Given the description of an element on the screen output the (x, y) to click on. 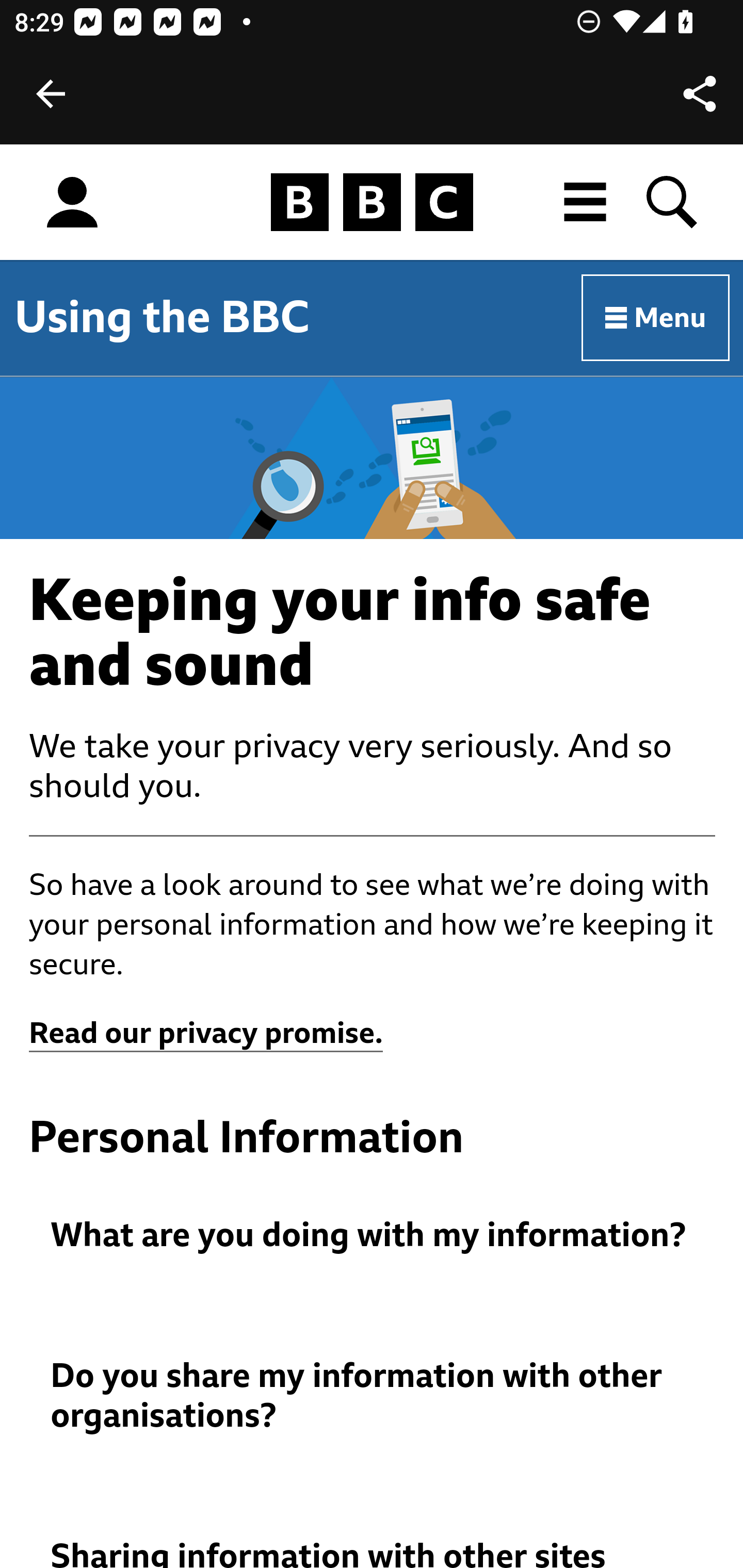
Back (50, 93)
Share (699, 93)
All BBC destinations menu (585, 202)
Search BBC (672, 202)
Sign in (71, 203)
Homepage (371, 203)
Menu (656, 318)
Using the BBC (162, 317)
Read our privacy promise. (206, 1034)
What are you doing with my information? (372, 1235)
Sharing information with other sites (372, 1552)
